Given the description of an element on the screen output the (x, y) to click on. 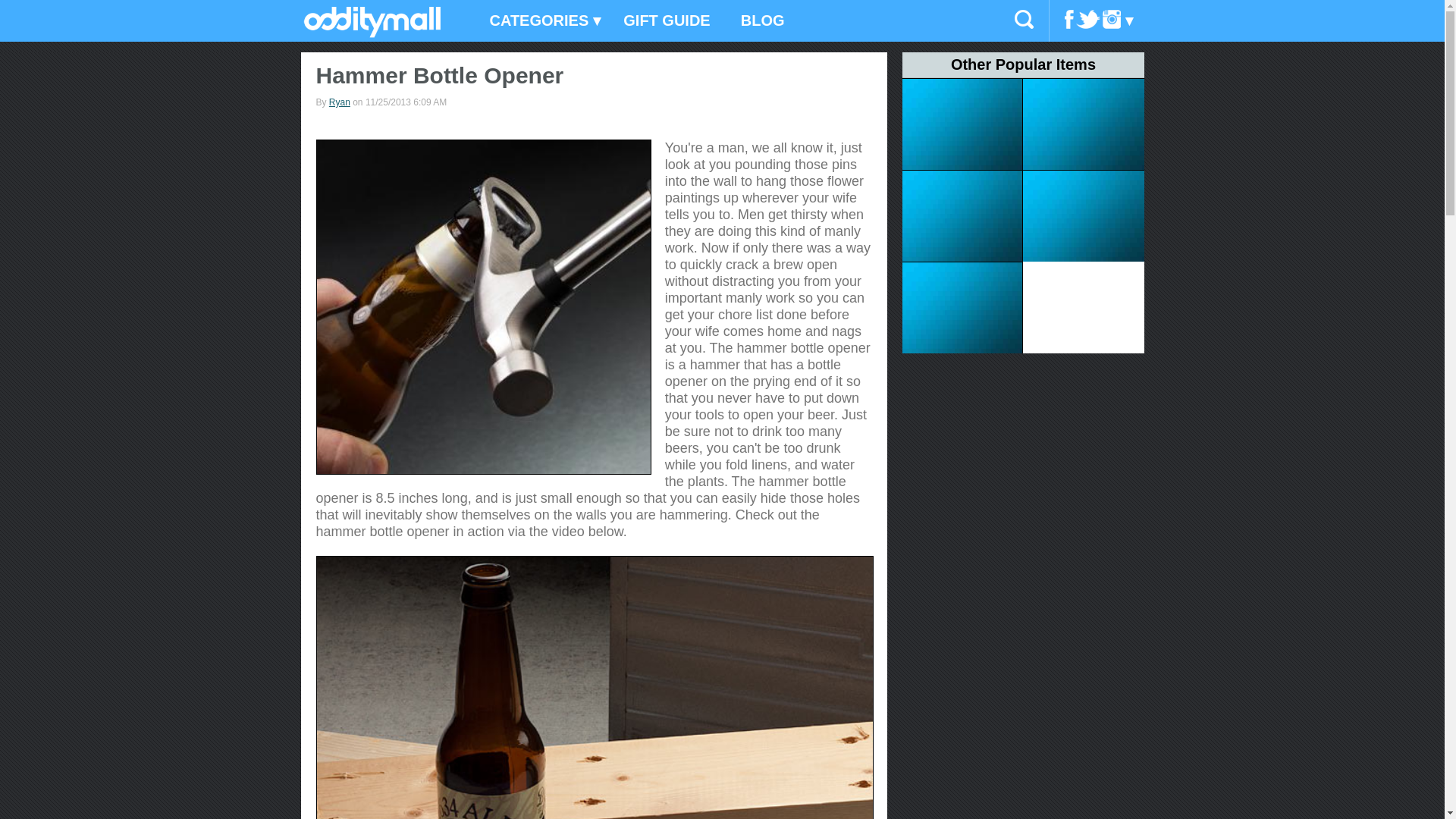
Hammer Bottle Opener (482, 307)
GIFT GUIDE (666, 20)
BLOG (762, 20)
CATEGORIES (541, 20)
Ryan (339, 102)
Unique Gifts - Unusual Gift Ideas (371, 32)
